Given the description of an element on the screen output the (x, y) to click on. 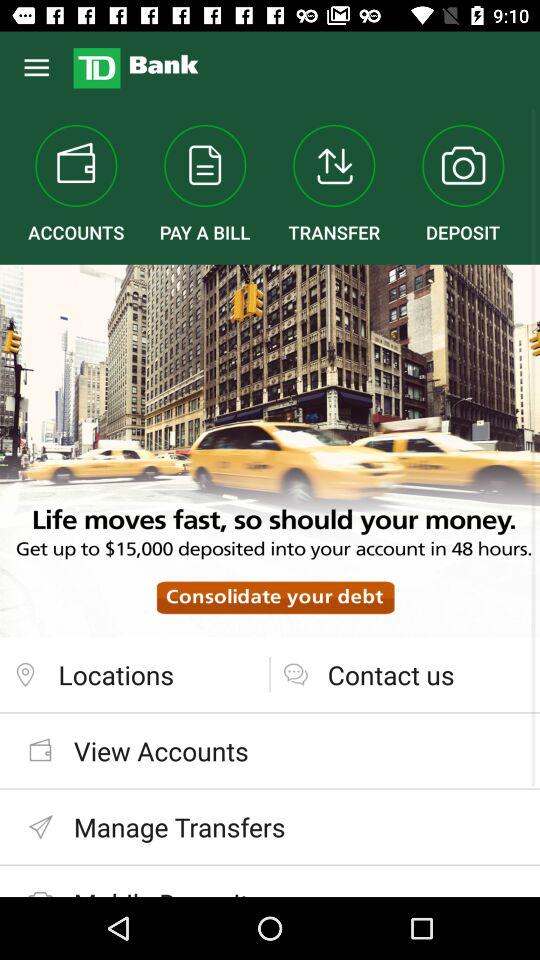
select the icon below the accounts (270, 450)
